Given the description of an element on the screen output the (x, y) to click on. 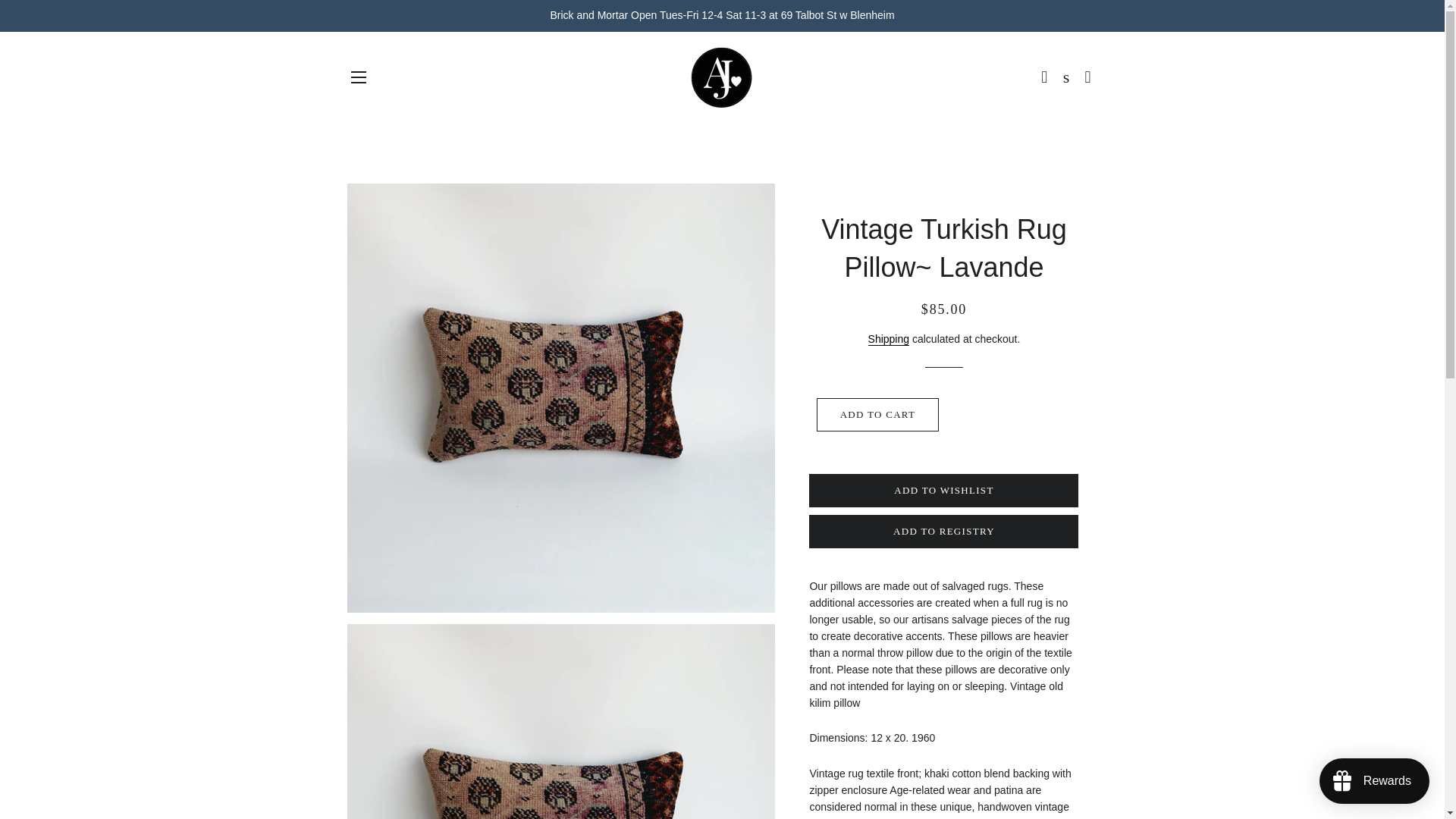
CART (1087, 77)
Shipping (888, 338)
SITE NAVIGATION (358, 77)
SEARCH (1066, 77)
Add to Wishlist (943, 490)
ADD TO CART (877, 414)
Add to Registry (943, 531)
LOG IN (1044, 77)
